Given the description of an element on the screen output the (x, y) to click on. 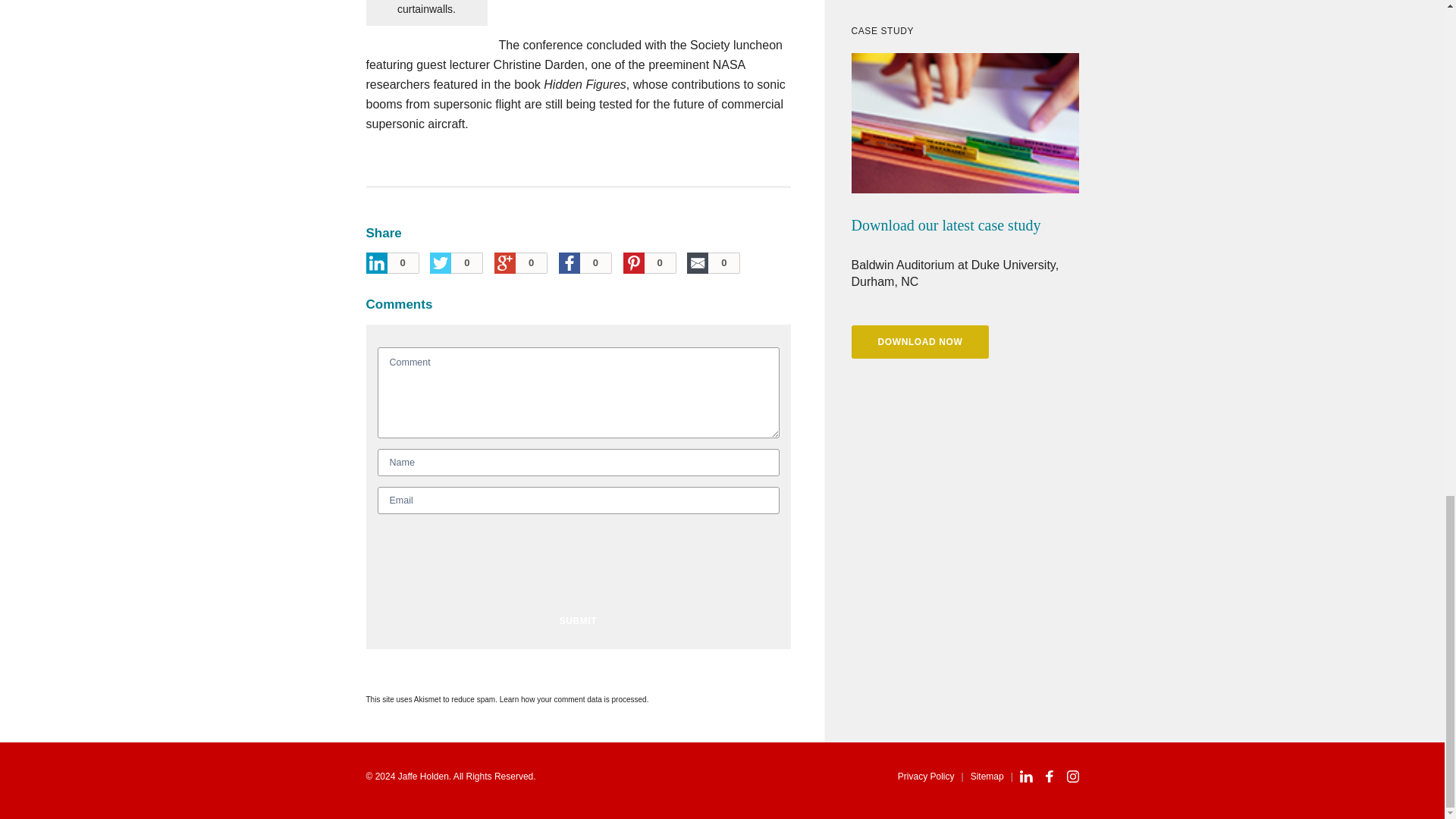
Christine Darden (539, 64)
Name (577, 461)
Submit (577, 621)
Email (577, 500)
Submit (577, 621)
Learn how your comment data is processed (572, 699)
